Given the description of an element on the screen output the (x, y) to click on. 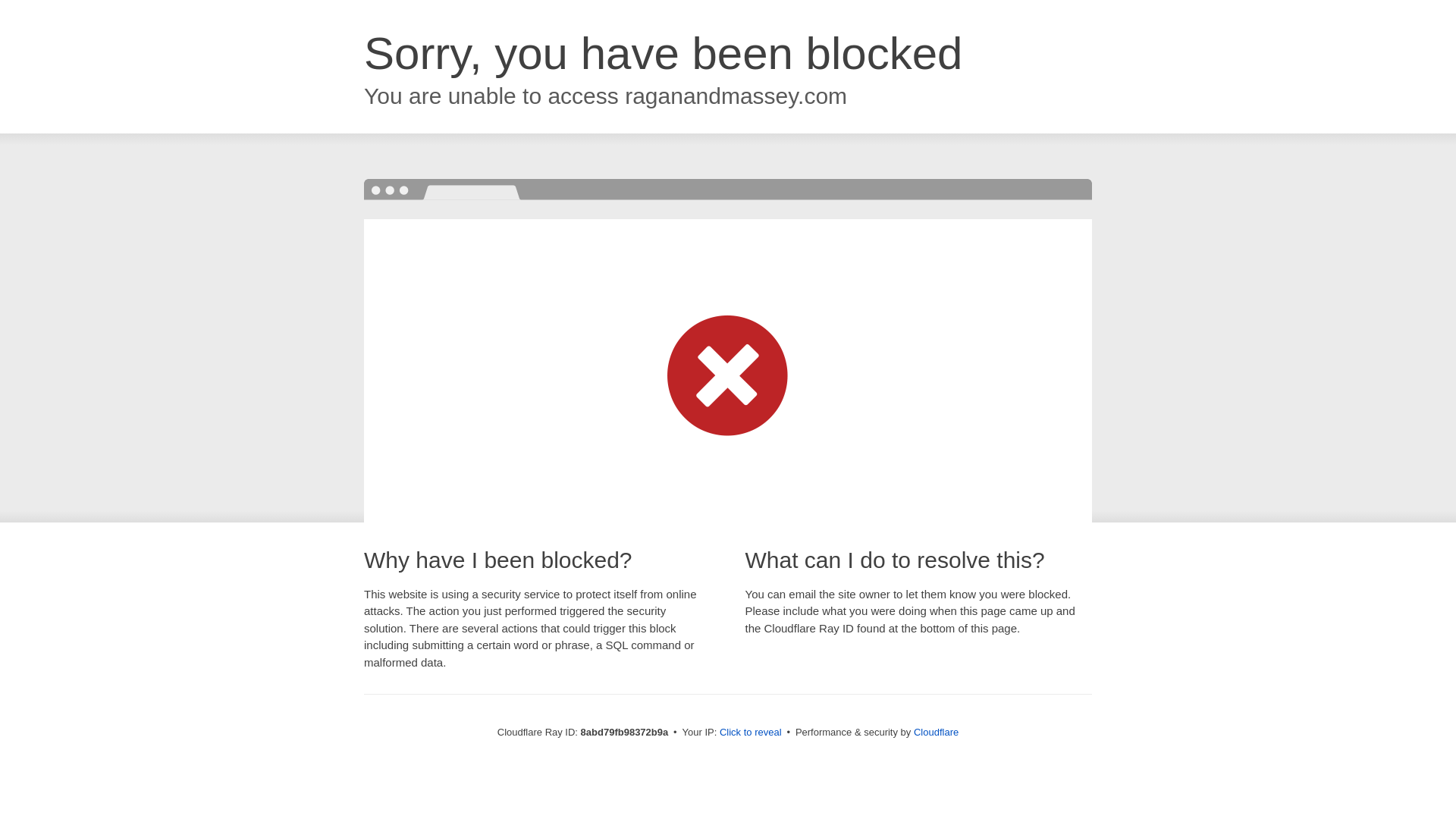
Cloudflare (936, 731)
Click to reveal (750, 732)
